Given the description of an element on the screen output the (x, y) to click on. 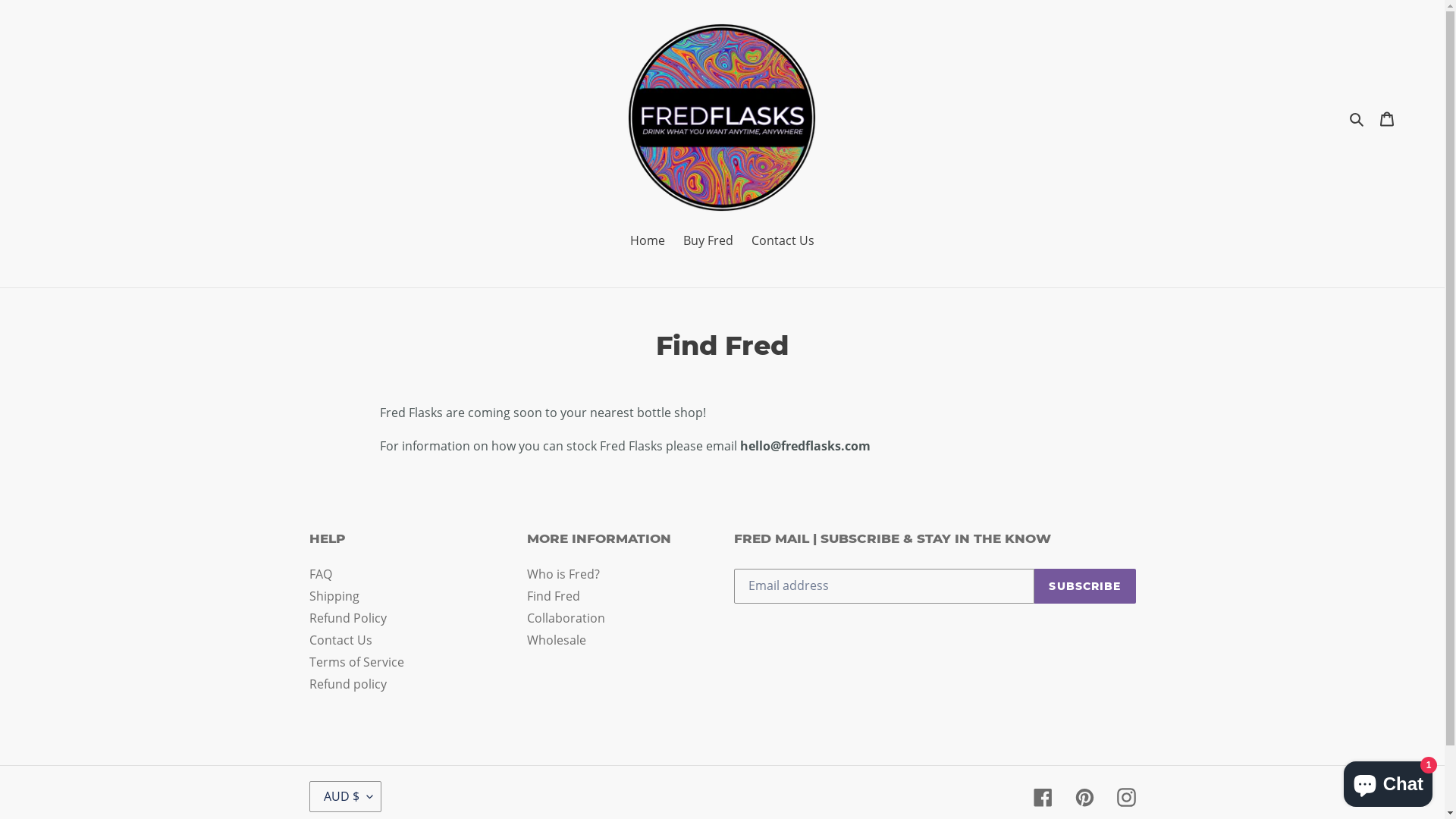
Search Element type: text (1357, 117)
Collaboration Element type: text (566, 617)
Buy Fred Element type: text (707, 241)
Refund policy Element type: text (347, 683)
Who is Fred? Element type: text (563, 573)
Contact Us Element type: text (782, 241)
Shipping Element type: text (334, 595)
Instagram Element type: text (1125, 796)
AUD $ Element type: text (345, 796)
FAQ Element type: text (320, 573)
Cart Element type: text (1386, 117)
Contact Us Element type: text (340, 639)
Find Fred Element type: text (553, 595)
SUBSCRIBE Element type: text (1084, 585)
Pinterest Element type: text (1084, 796)
Refund Policy Element type: text (347, 617)
Terms of Service Element type: text (356, 661)
Home Element type: text (647, 241)
Wholesale Element type: text (556, 639)
Shopify online store chat Element type: hover (1388, 780)
Facebook Element type: text (1041, 796)
